Given the description of an element on the screen output the (x, y) to click on. 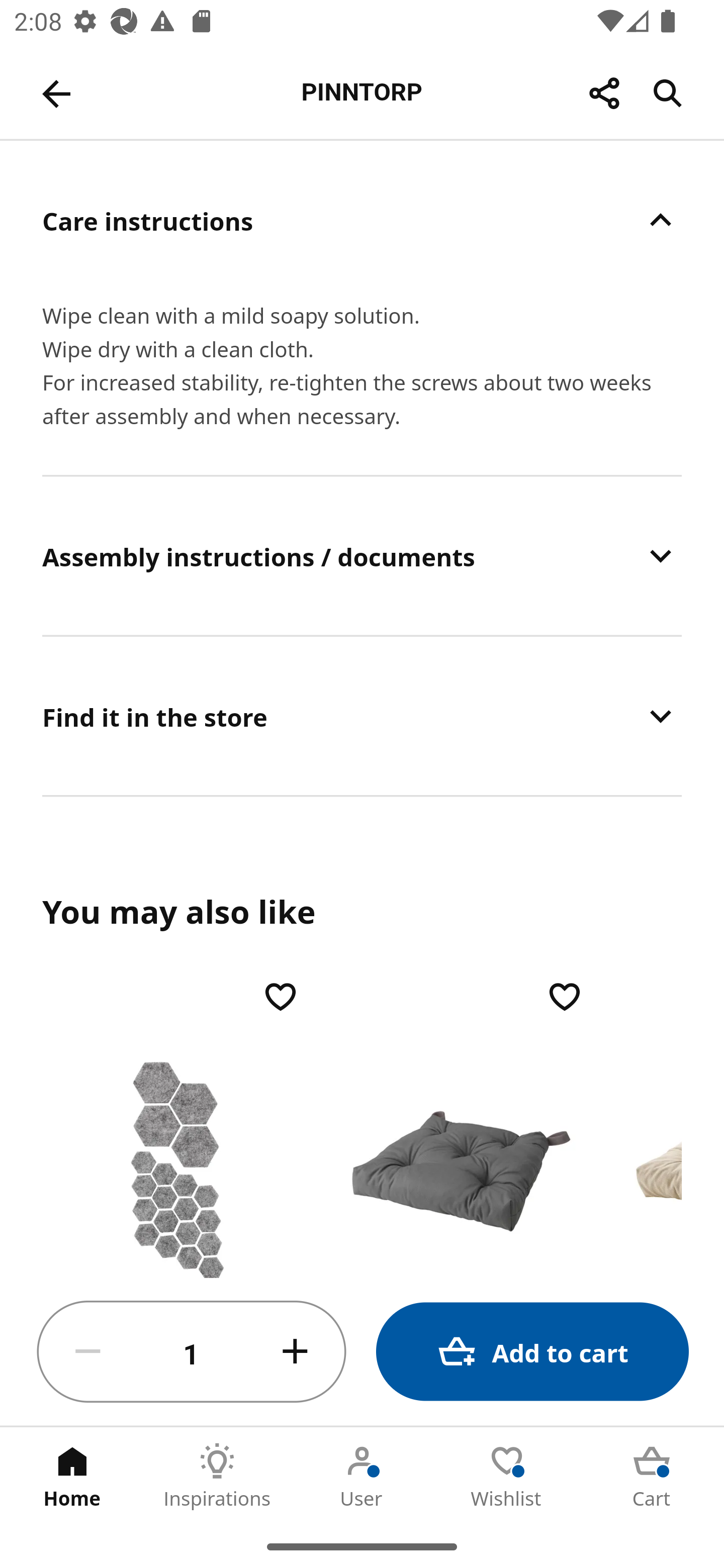
Care instructions (361, 219)
Assembly instructions / documents (361, 555)
Find it in the store (361, 715)
Add to cart (531, 1352)
1 (191, 1352)
Home
Tab 1 of 5 (72, 1476)
Inspirations
Tab 2 of 5 (216, 1476)
User
Tab 3 of 5 (361, 1476)
Wishlist
Tab 4 of 5 (506, 1476)
Cart
Tab 5 of 5 (651, 1476)
